Given the description of an element on the screen output the (x, y) to click on. 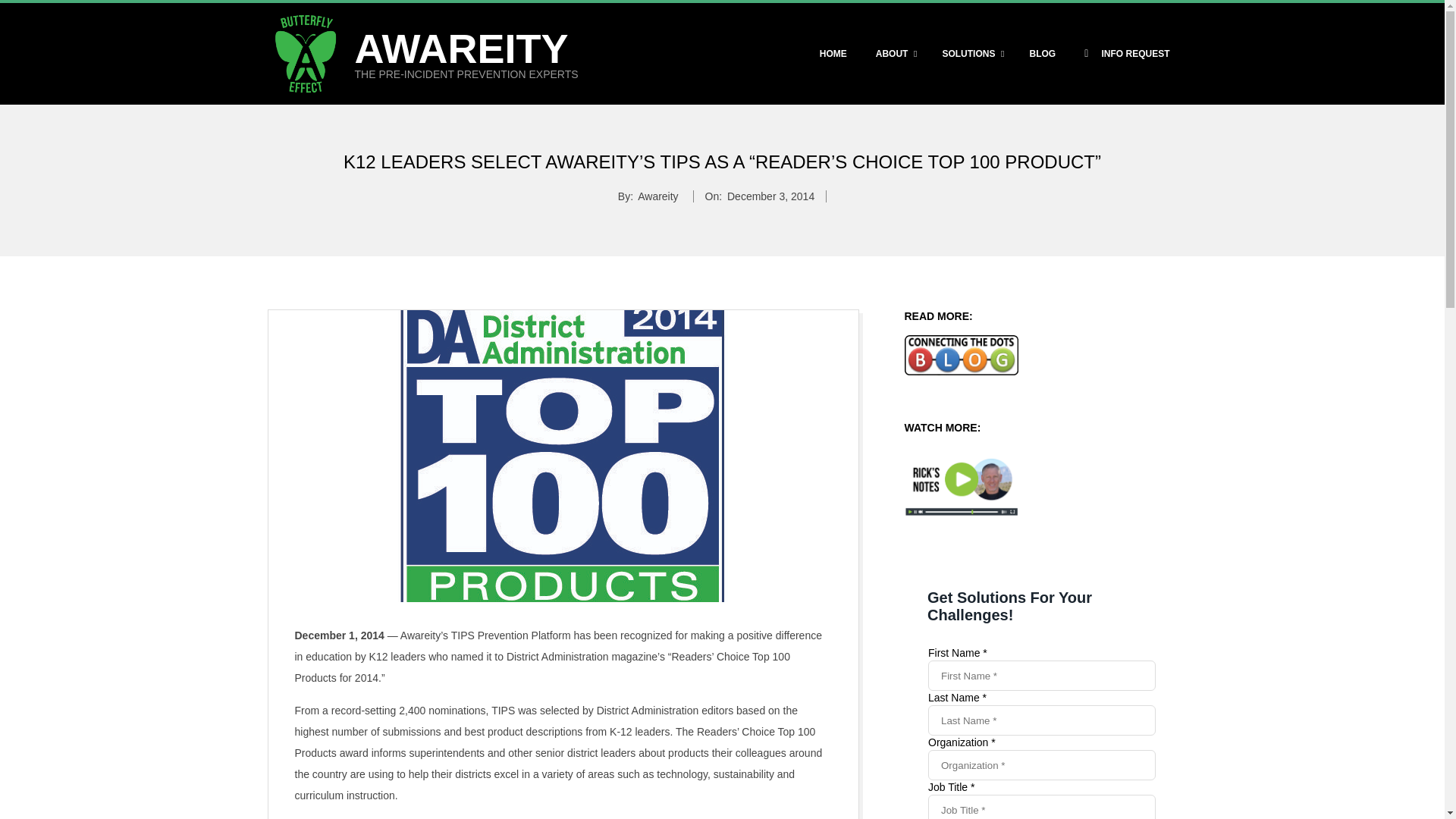
Posts by Awareity (657, 196)
ABOUT (894, 53)
BLOG (1042, 53)
Awareity (657, 196)
Wednesday, December 3, 2014, 4:12 pm (903, 53)
SOLUTIONS (769, 196)
INFO REQUEST (970, 53)
AWAREITY (1126, 53)
HOME (462, 48)
